Given the description of an element on the screen output the (x, y) to click on. 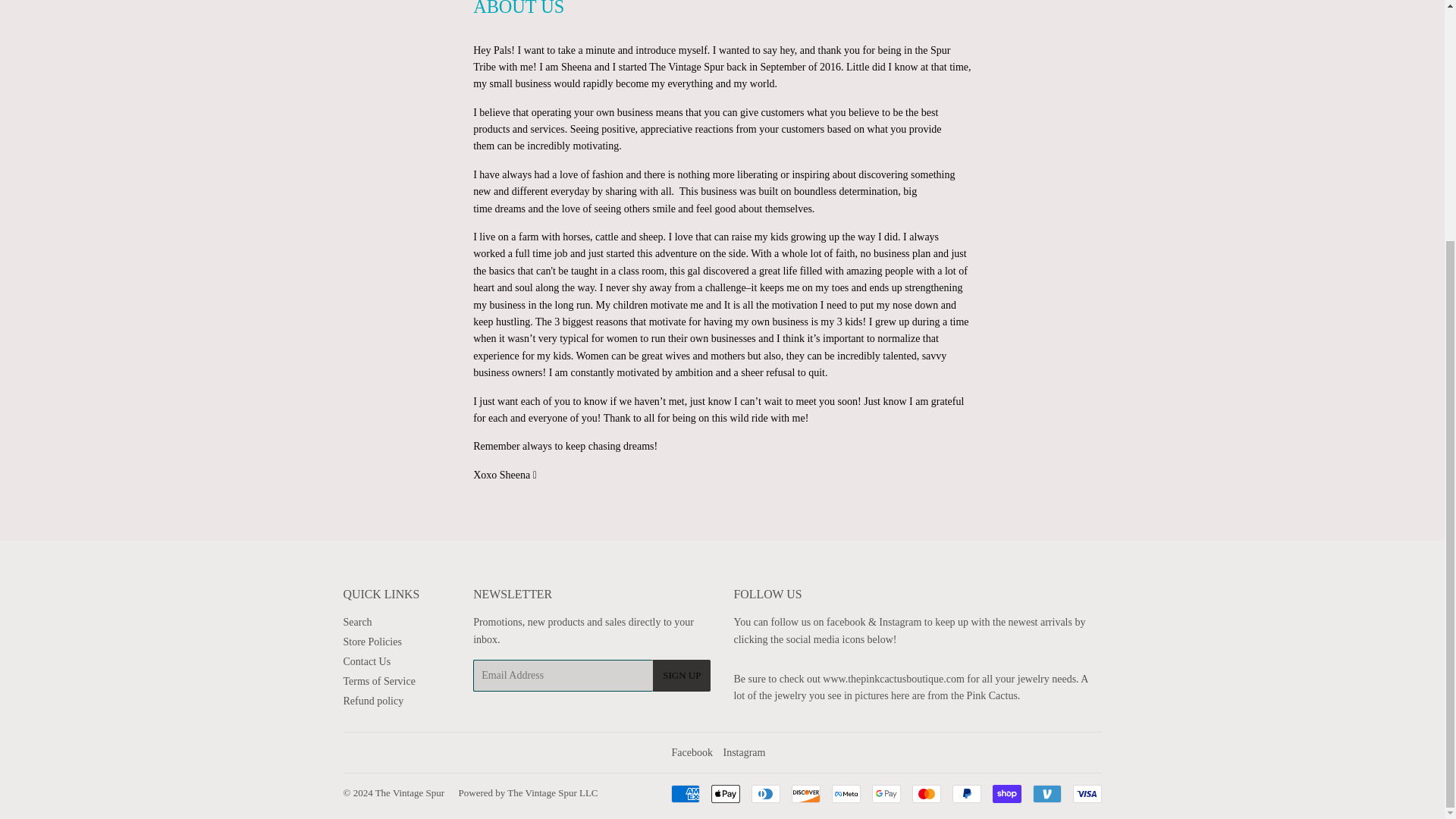
Discover (806, 793)
Mastercard (925, 793)
Meta Pay (845, 793)
Shop Pay (1005, 793)
Venmo (1046, 793)
Diners Club (764, 793)
Google Pay (886, 793)
The Vintage Spur  on Instagram (743, 752)
Visa (1085, 793)
The Vintage Spur  on Facebook (692, 752)
